Given the description of an element on the screen output the (x, y) to click on. 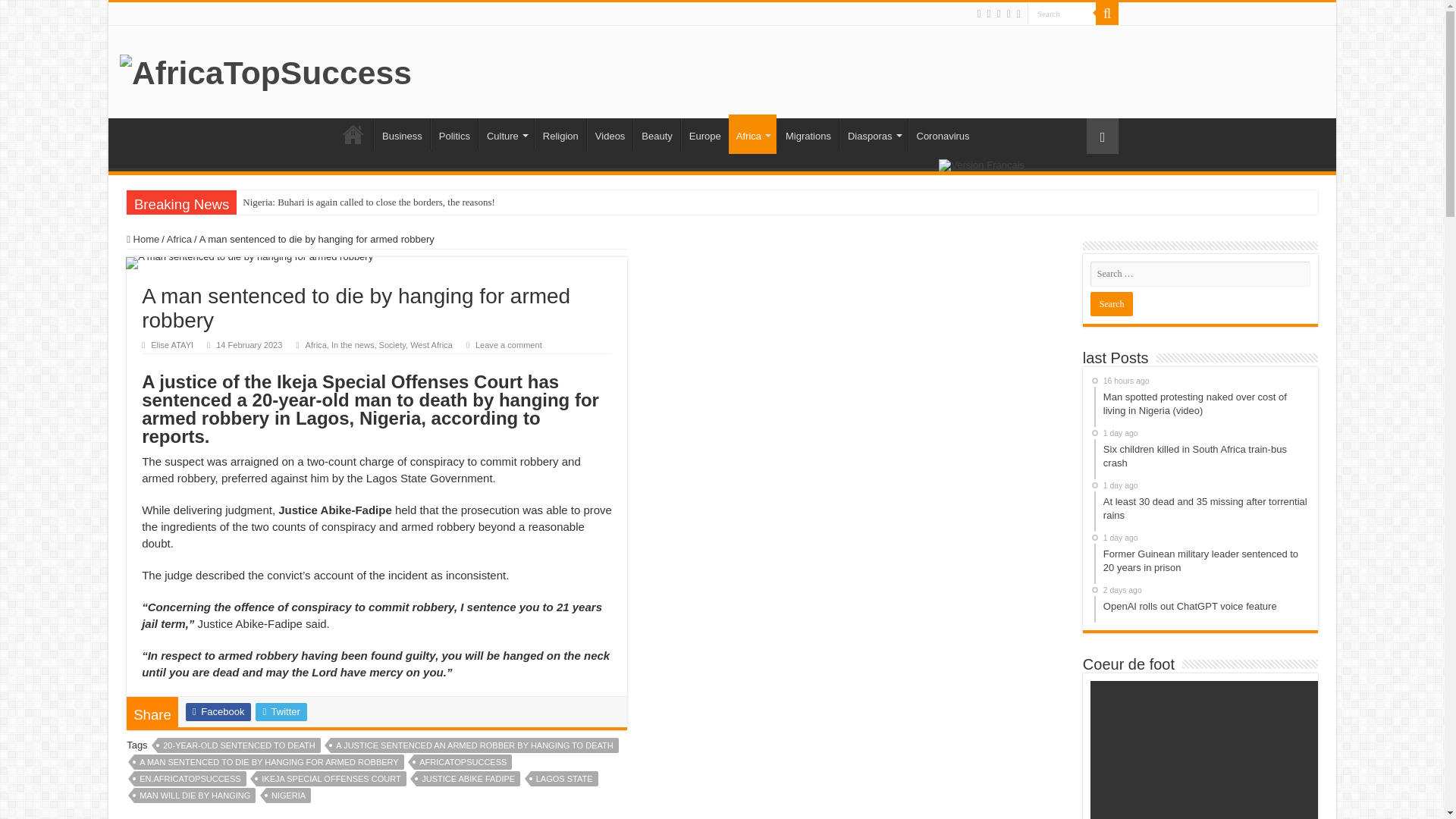
Search (1107, 13)
Search (1061, 13)
Search (1112, 303)
Search (1112, 303)
Search (1061, 13)
Search (1061, 13)
